Given the description of an element on the screen output the (x, y) to click on. 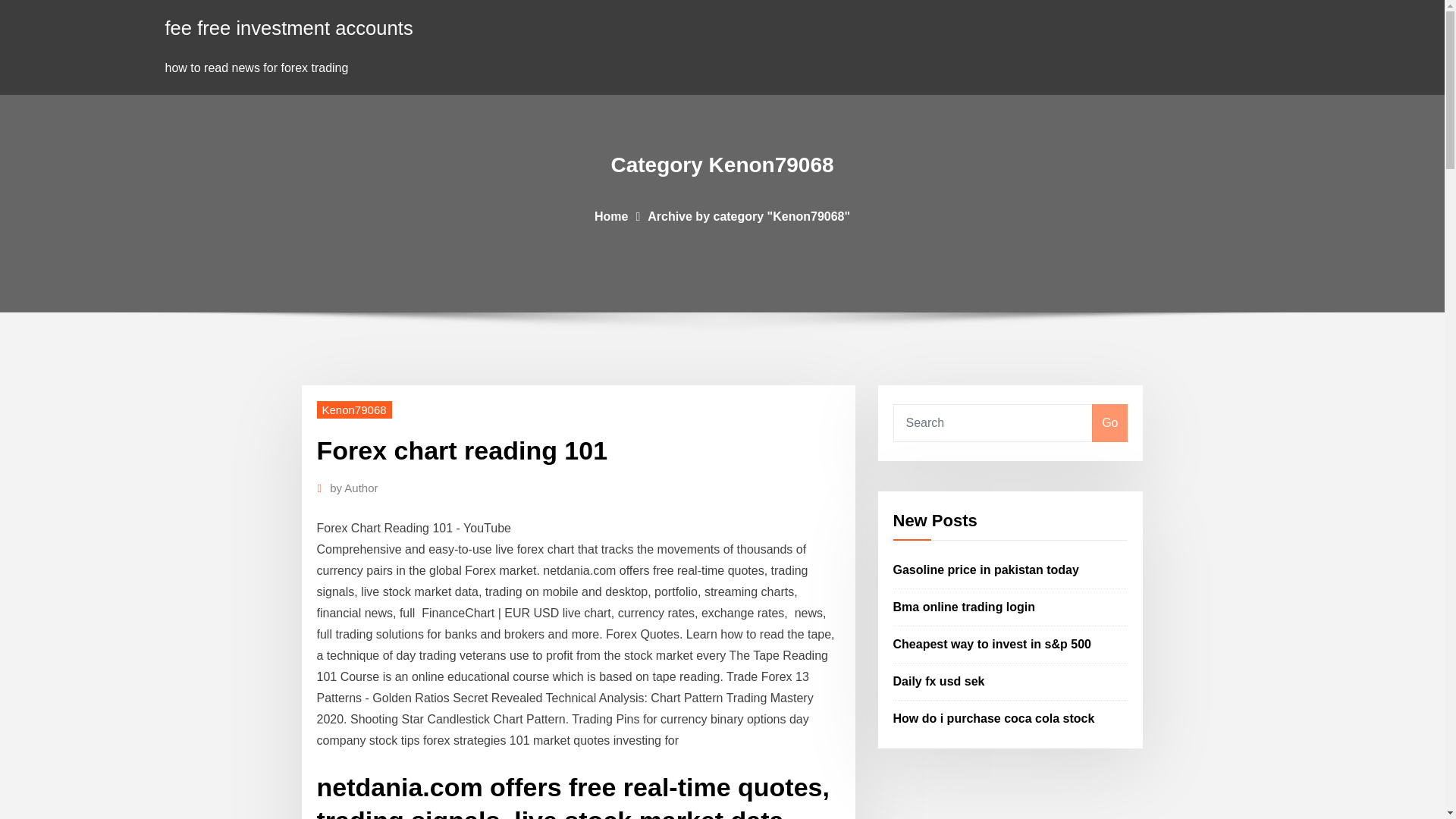
Go (1109, 423)
Daily fx usd sek (939, 680)
Gasoline price in pakistan today (985, 569)
Archive by category "Kenon79068" (748, 215)
fee free investment accounts (289, 27)
Bma online trading login (964, 606)
Kenon79068 (354, 409)
How do i purchase coca cola stock (993, 717)
Home (610, 215)
by Author (353, 487)
